Given the description of an element on the screen output the (x, y) to click on. 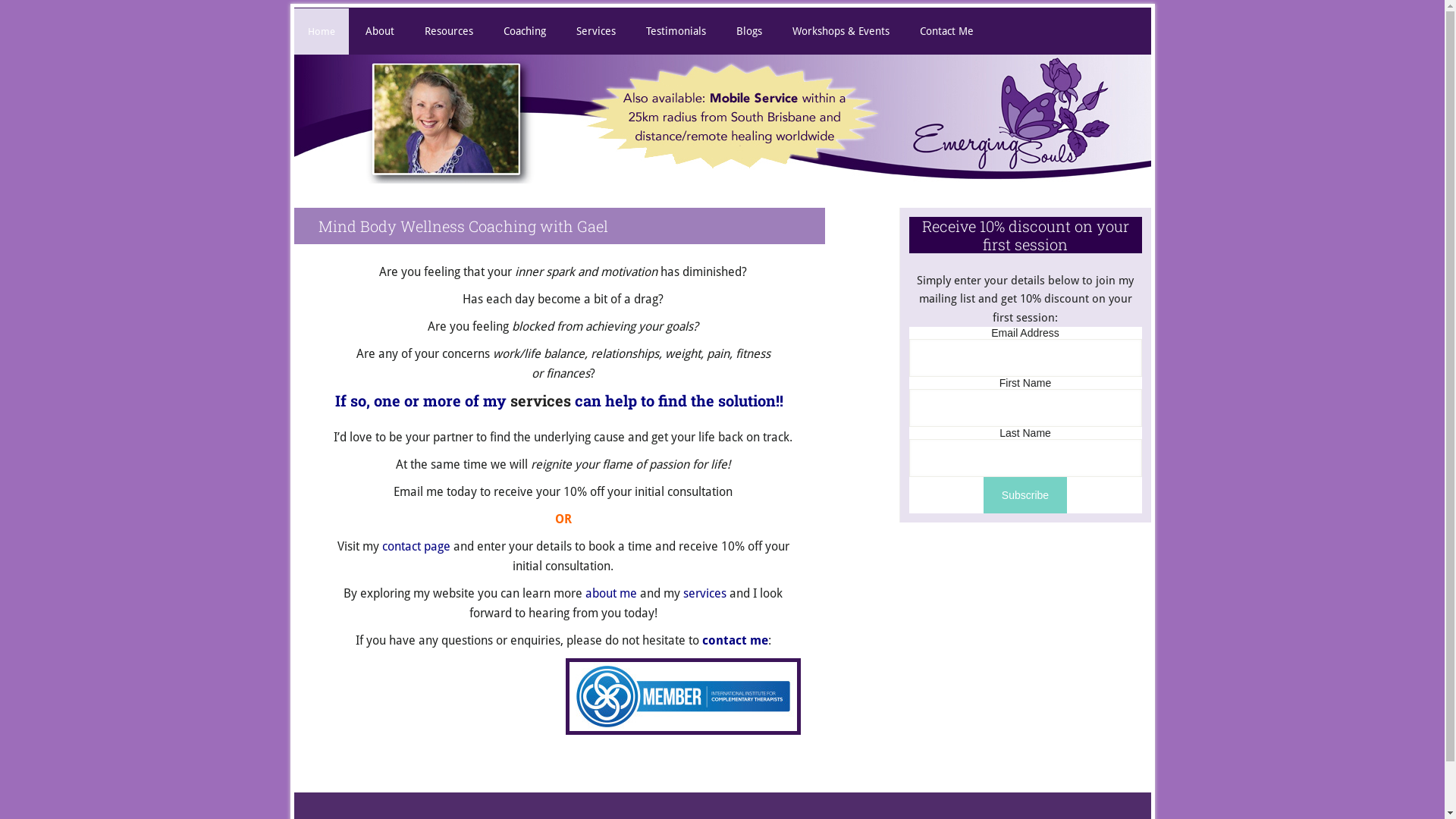
Resources Element type: text (448, 30)
Emerging Souls Energy Healing Element type: text (722, 171)
Services Element type: text (595, 30)
Home Element type: text (321, 31)
contact page Element type: text (416, 546)
Contact Me Element type: text (945, 30)
Subscribe Element type: text (1024, 494)
Blogs Element type: text (748, 30)
About Element type: text (379, 30)
Workshops & Events Element type: text (840, 30)
contact me Element type: text (735, 640)
Coaching Element type: text (524, 30)
Testimonials Element type: text (675, 30)
